Given the description of an element on the screen output the (x, y) to click on. 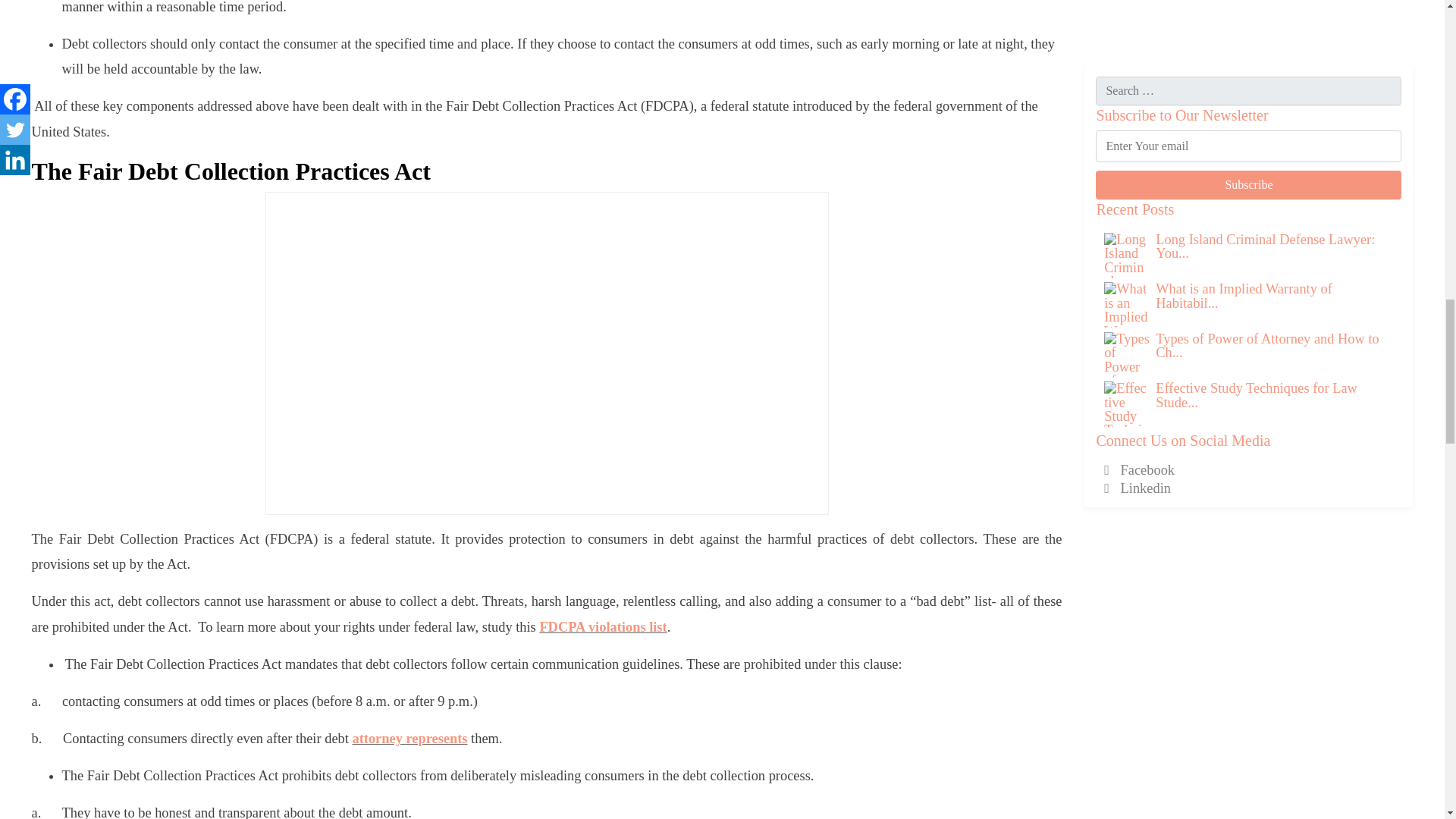
attorney represents (409, 738)
FDCPA violations list (602, 626)
